Given the description of an element on the screen output the (x, y) to click on. 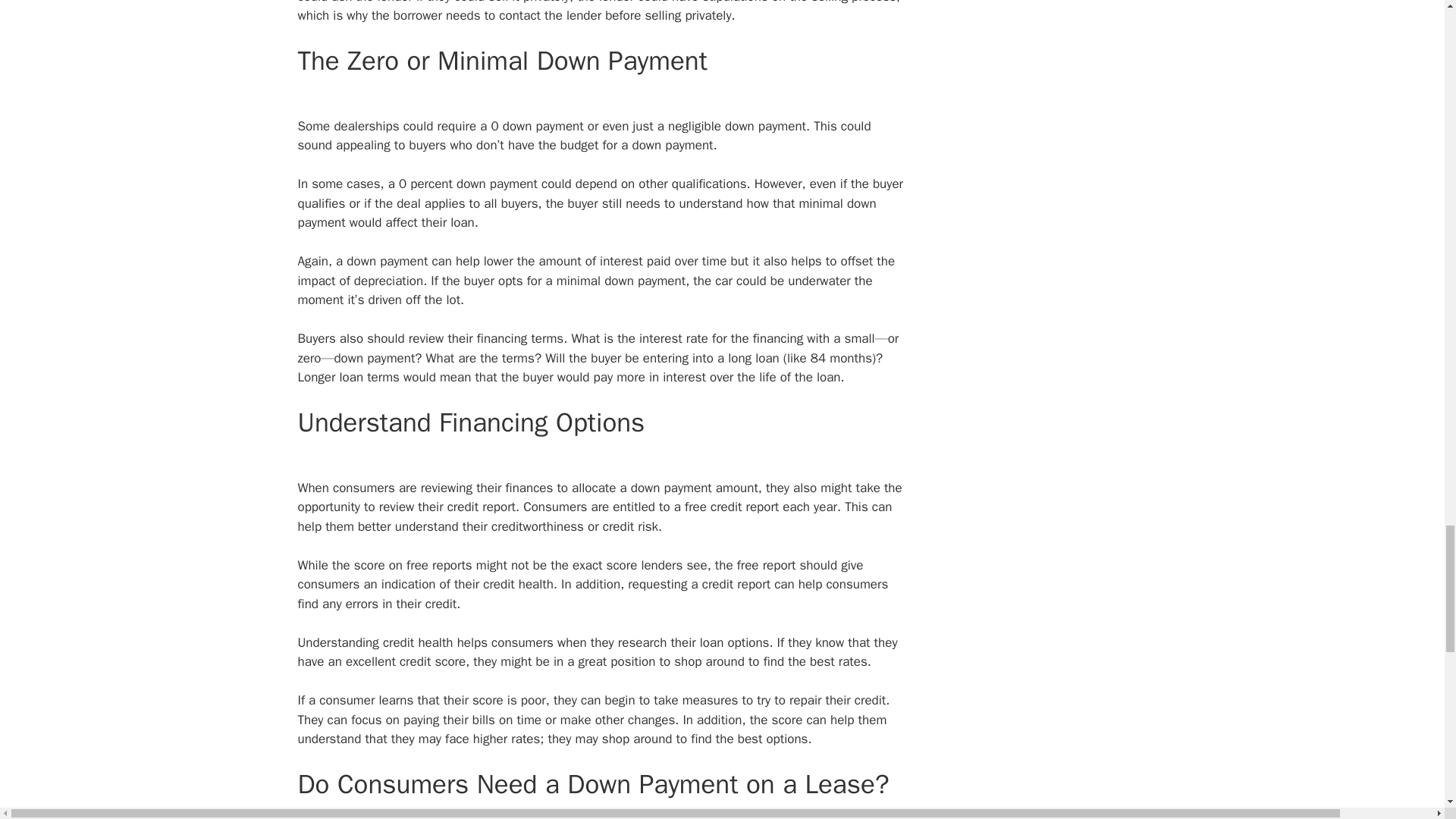
selling privately (687, 15)
could sell it privately (511, 2)
stipulations on the selling process (797, 2)
